Given the description of an element on the screen output the (x, y) to click on. 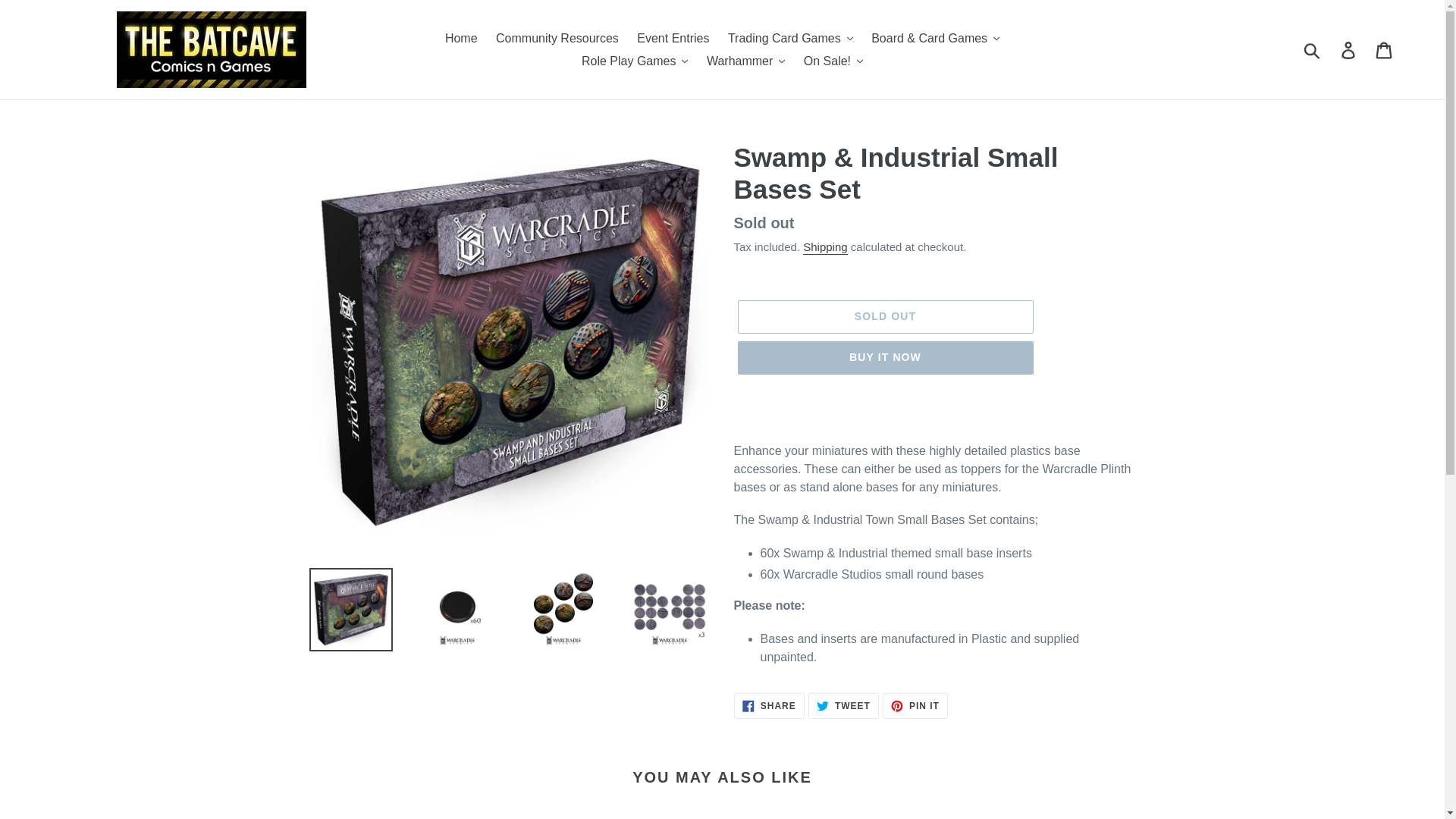
Home (461, 38)
Community Resources (556, 38)
Event Entries (672, 38)
